Given the description of an element on the screen output the (x, y) to click on. 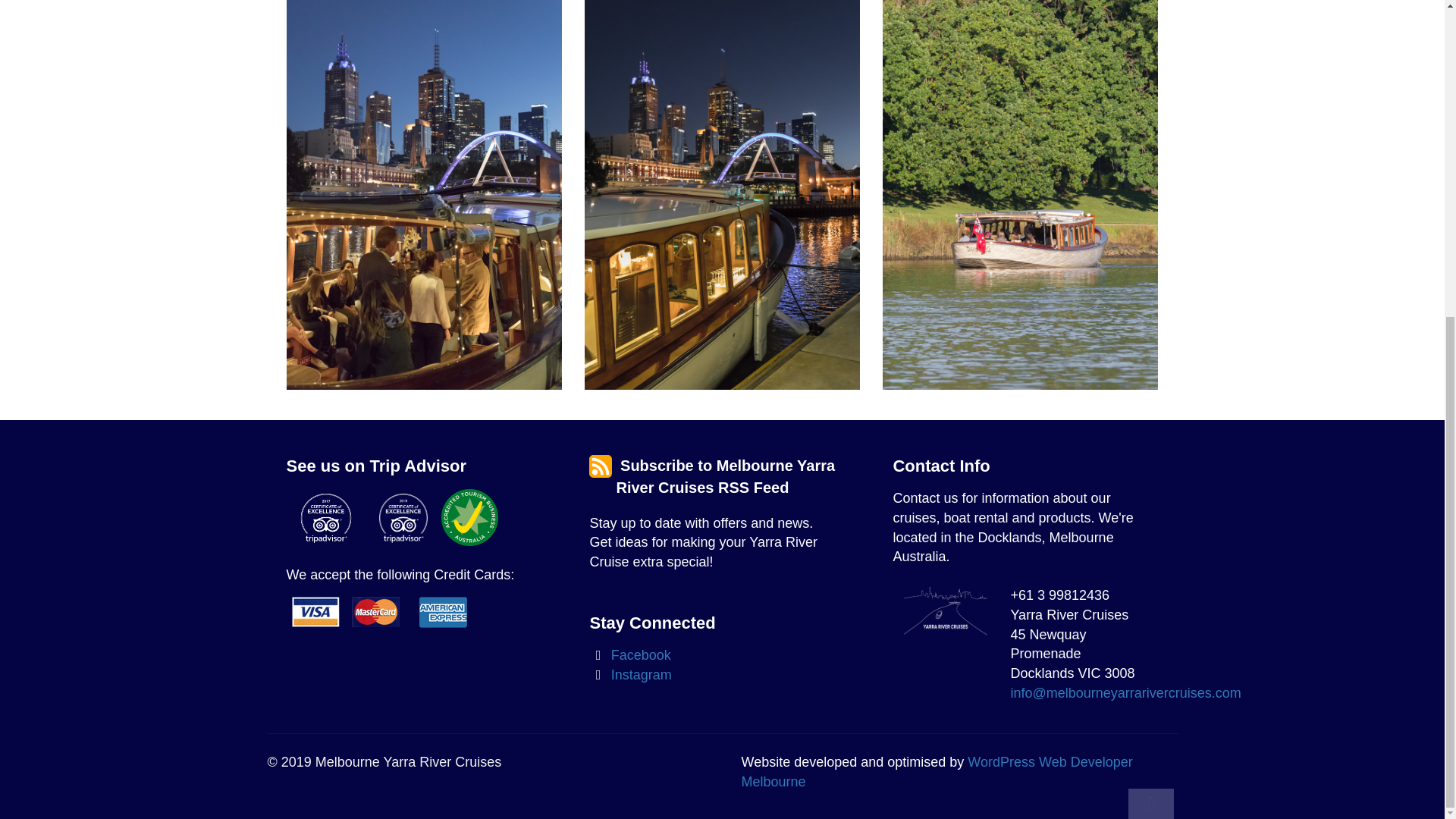
Instagram (630, 674)
 Subscribe to Melbourne Yarra River Cruises RSS Feed (724, 476)
Facebook (629, 654)
WordPress Web Developer Melbourne (936, 771)
